Given the description of an element on the screen output the (x, y) to click on. 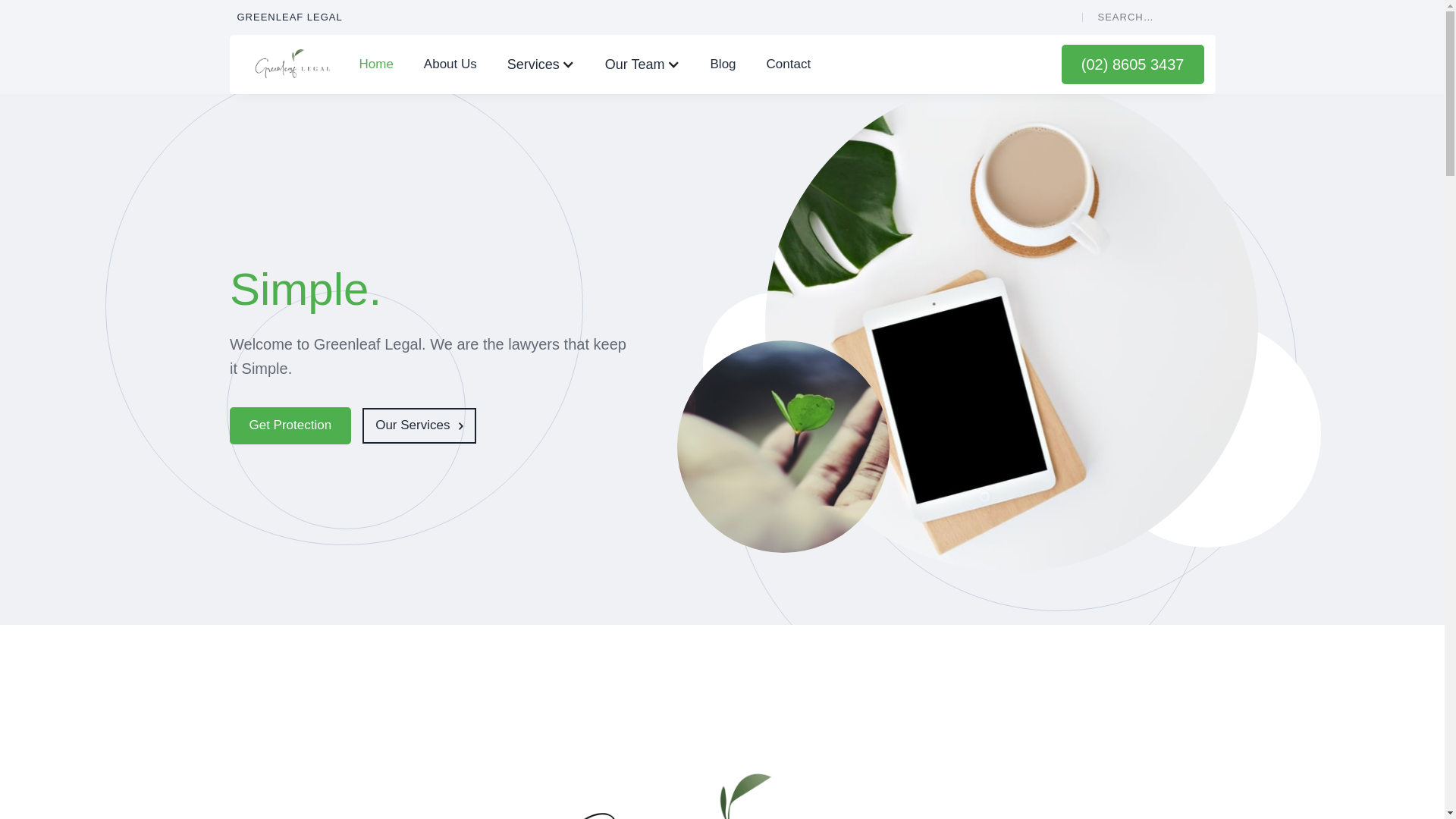
  Element type: text (1195, 17)
Our Services Element type: text (419, 424)
(02) 8605 3437 Element type: text (1132, 64)
About Us Element type: text (450, 64)
Get Protection Element type: text (290, 425)
Contact Element type: text (788, 64)
GREENLEAF LEGAL Element type: text (289, 17)
Services Element type: text (533, 64)
Our Team Element type: text (635, 64)
Blog Element type: text (723, 64)
Home Element type: text (376, 64)
